Given the description of an element on the screen output the (x, y) to click on. 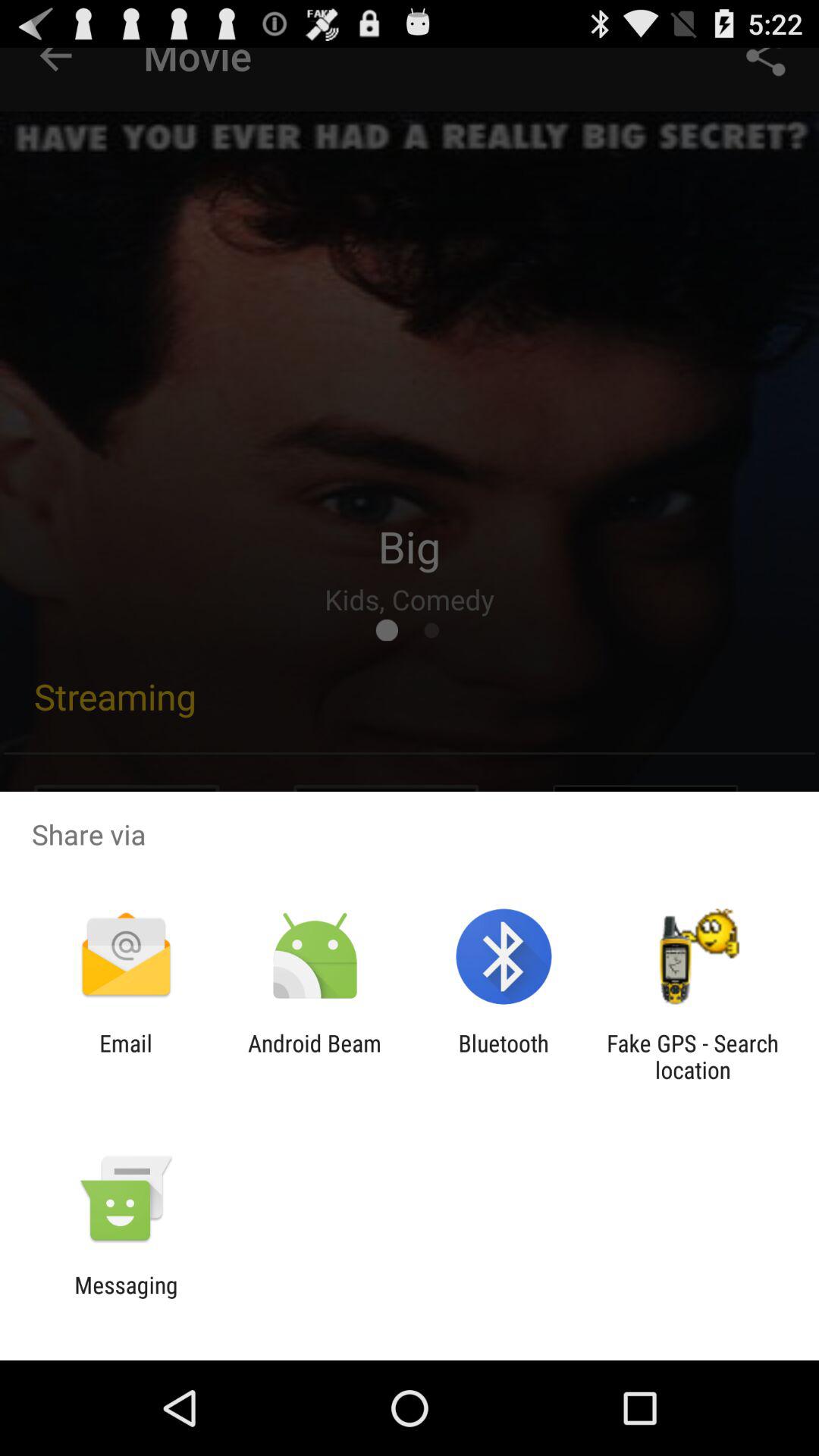
tap item to the left of the android beam icon (125, 1056)
